Given the description of an element on the screen output the (x, y) to click on. 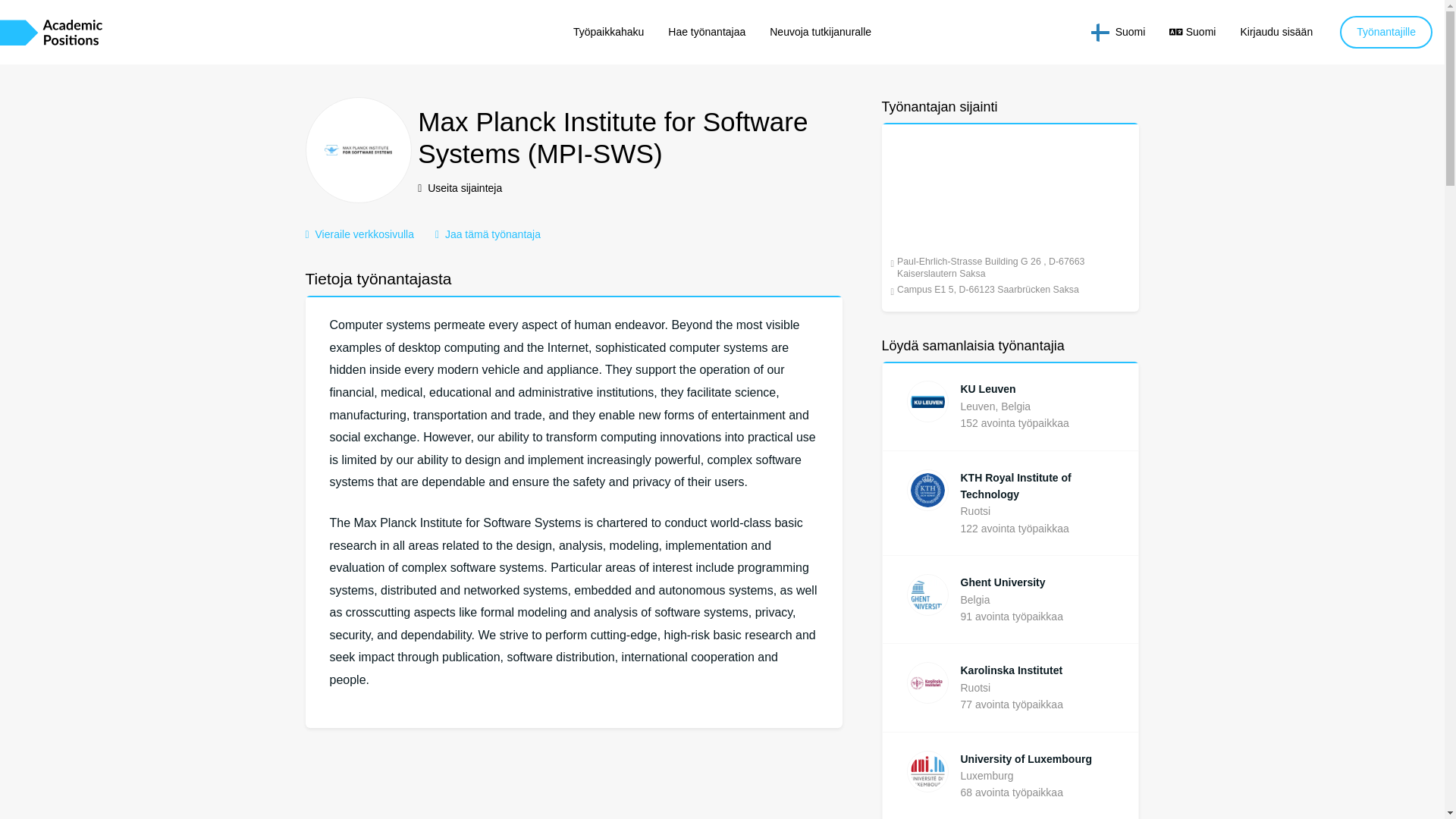
Neuvoja tutkijanuralle (820, 31)
